Given the description of an element on the screen output the (x, y) to click on. 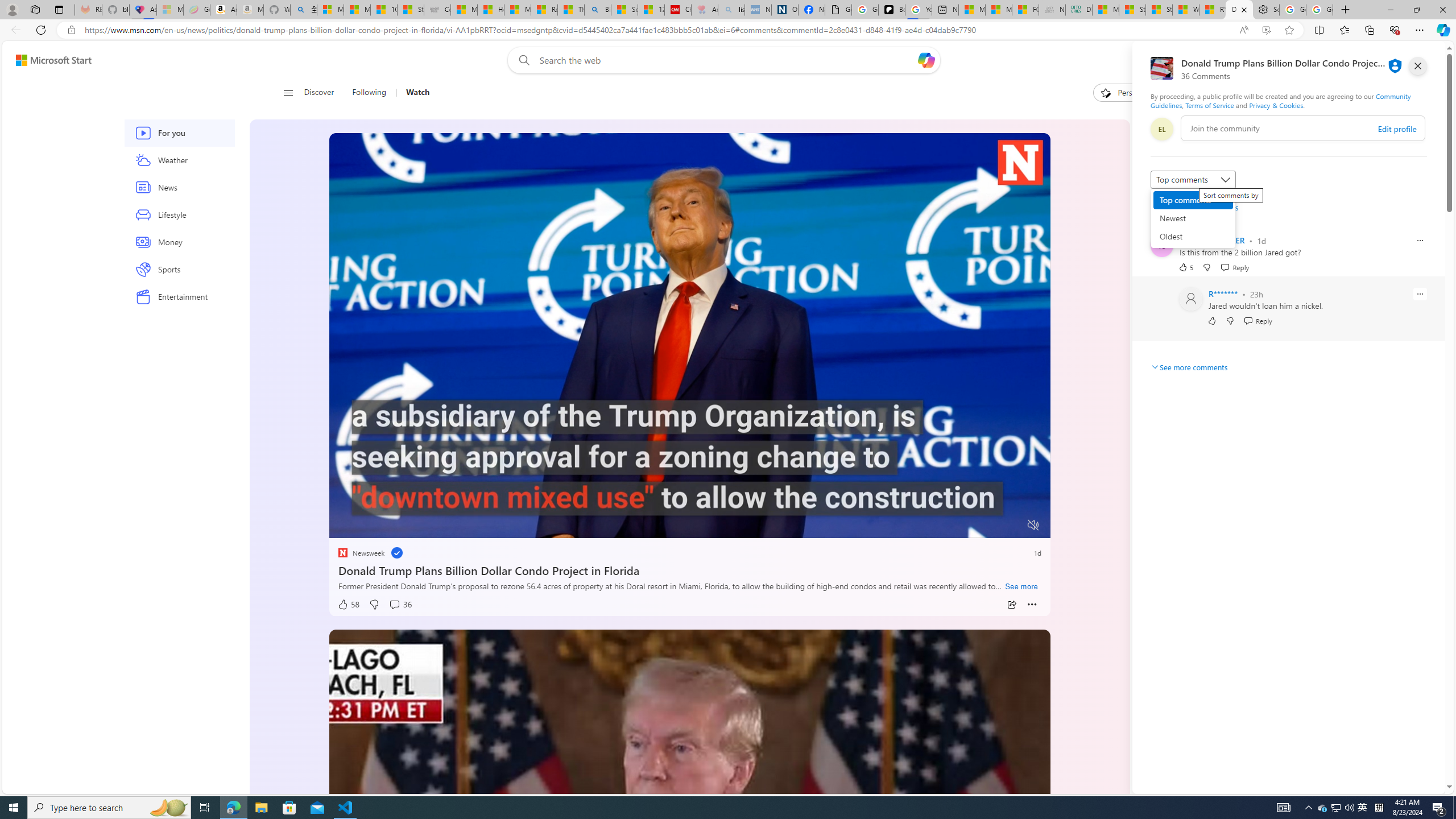
Enter your search term (726, 59)
Ad Choice (1300, 601)
Tom SCHLENSKER (1211, 240)
Seek Forward (391, 525)
Share (1010, 604)
How I Got Rid of Microsoft Edge's Unnecessary Features (491, 9)
Like (1211, 320)
More (1031, 604)
Watch (417, 92)
